Given the description of an element on the screen output the (x, y) to click on. 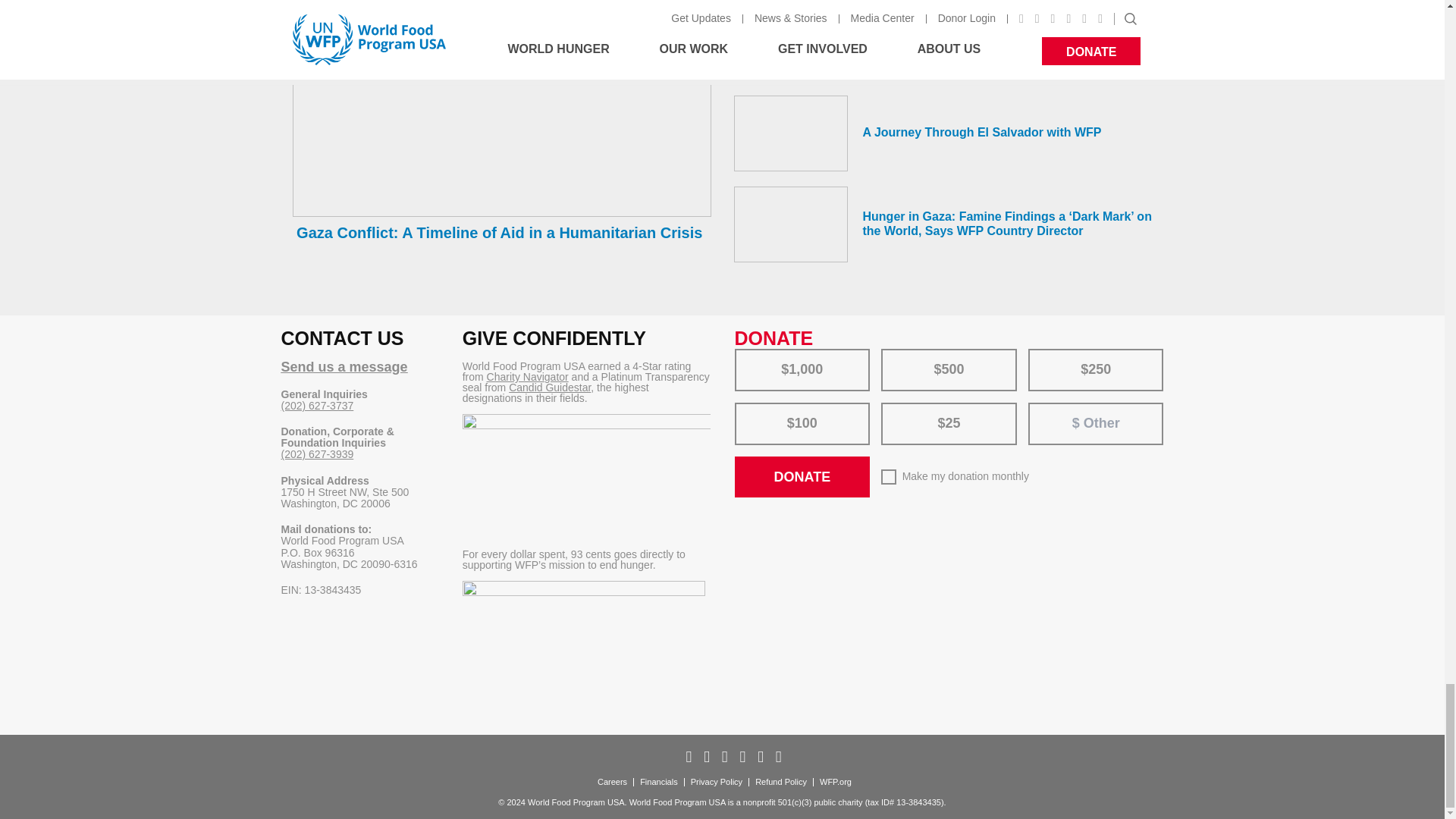
25 (891, 407)
custom (1046, 409)
1,000 (744, 353)
500 (891, 353)
250 (1038, 353)
100 (744, 407)
